Given the description of an element on the screen output the (x, y) to click on. 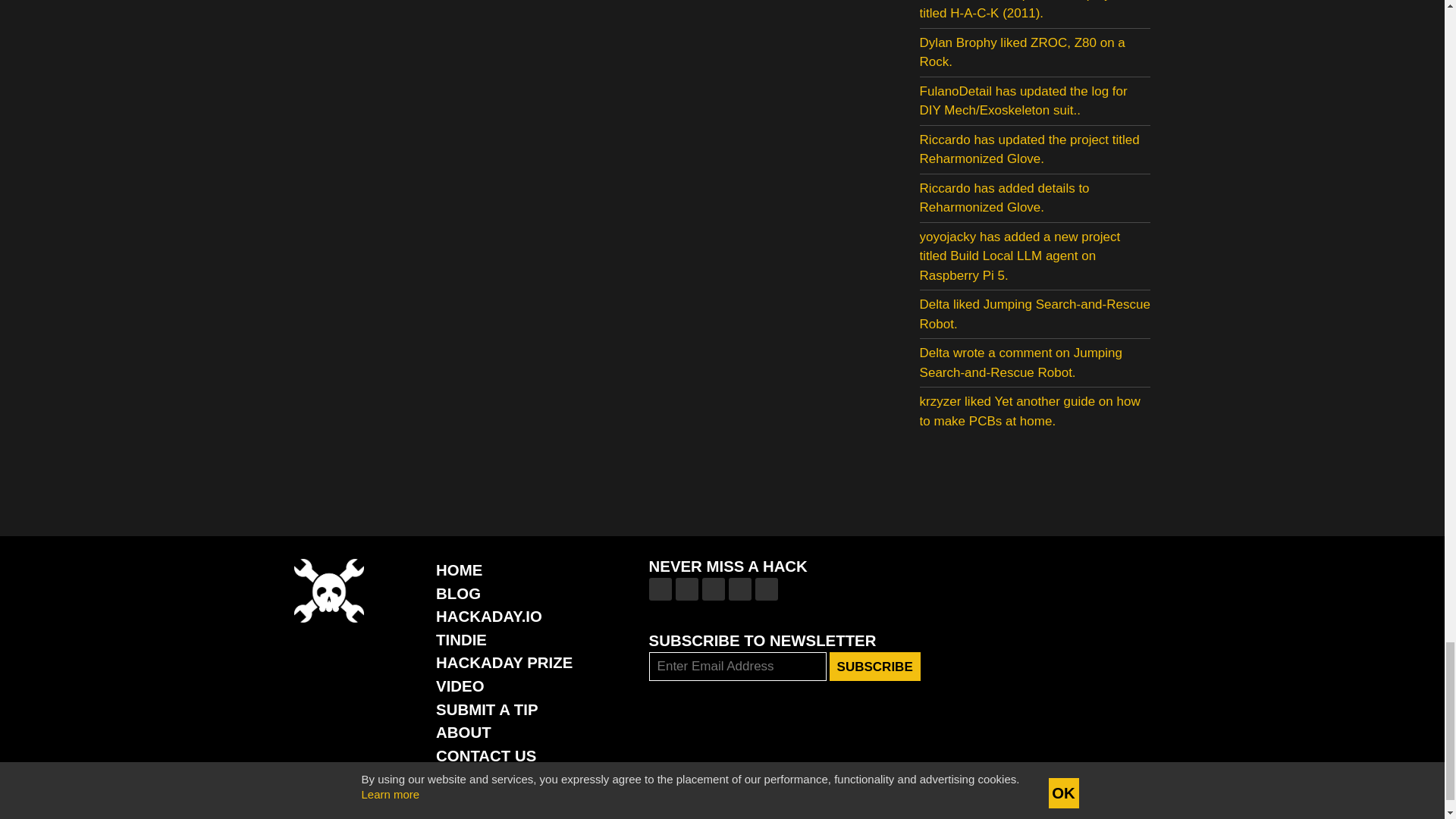
Subscribe (874, 665)
Build Something that Matters (503, 662)
